Given the description of an element on the screen output the (x, y) to click on. 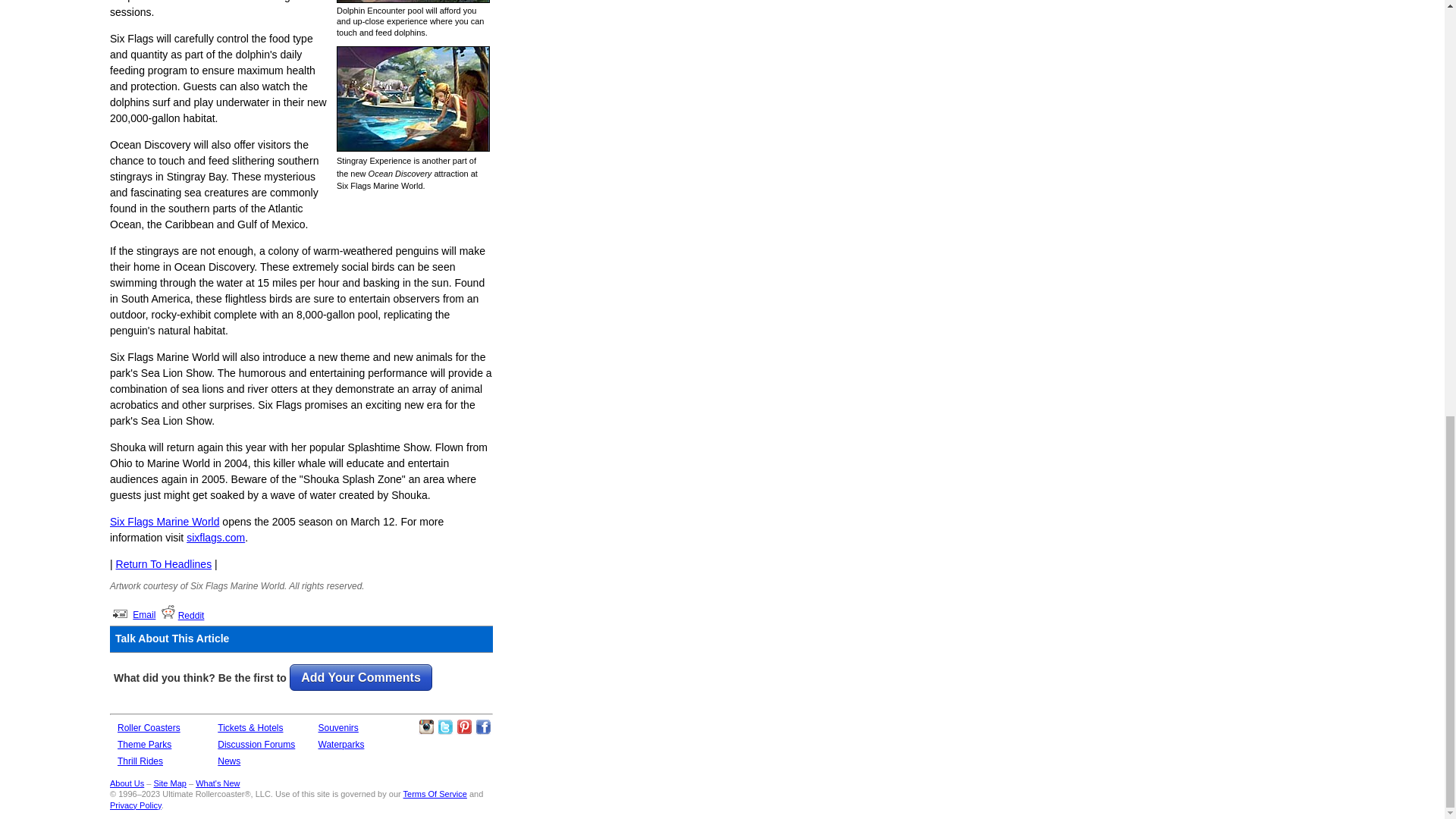
Roller Coasters (148, 727)
Add Your Comments (360, 677)
Like Ultimate Rollercoaster Instagram (426, 726)
News (228, 760)
Terms Of Service (435, 793)
Waterparks (341, 744)
Theme Parks (144, 744)
Thrill Rides (140, 760)
Email (143, 614)
Follow Roller Coasters on Twitter (445, 726)
sixflags.com (215, 537)
What's New (217, 782)
Theme Parks Pinterest (464, 726)
About Us (127, 782)
Site Map (169, 782)
